Given the description of an element on the screen output the (x, y) to click on. 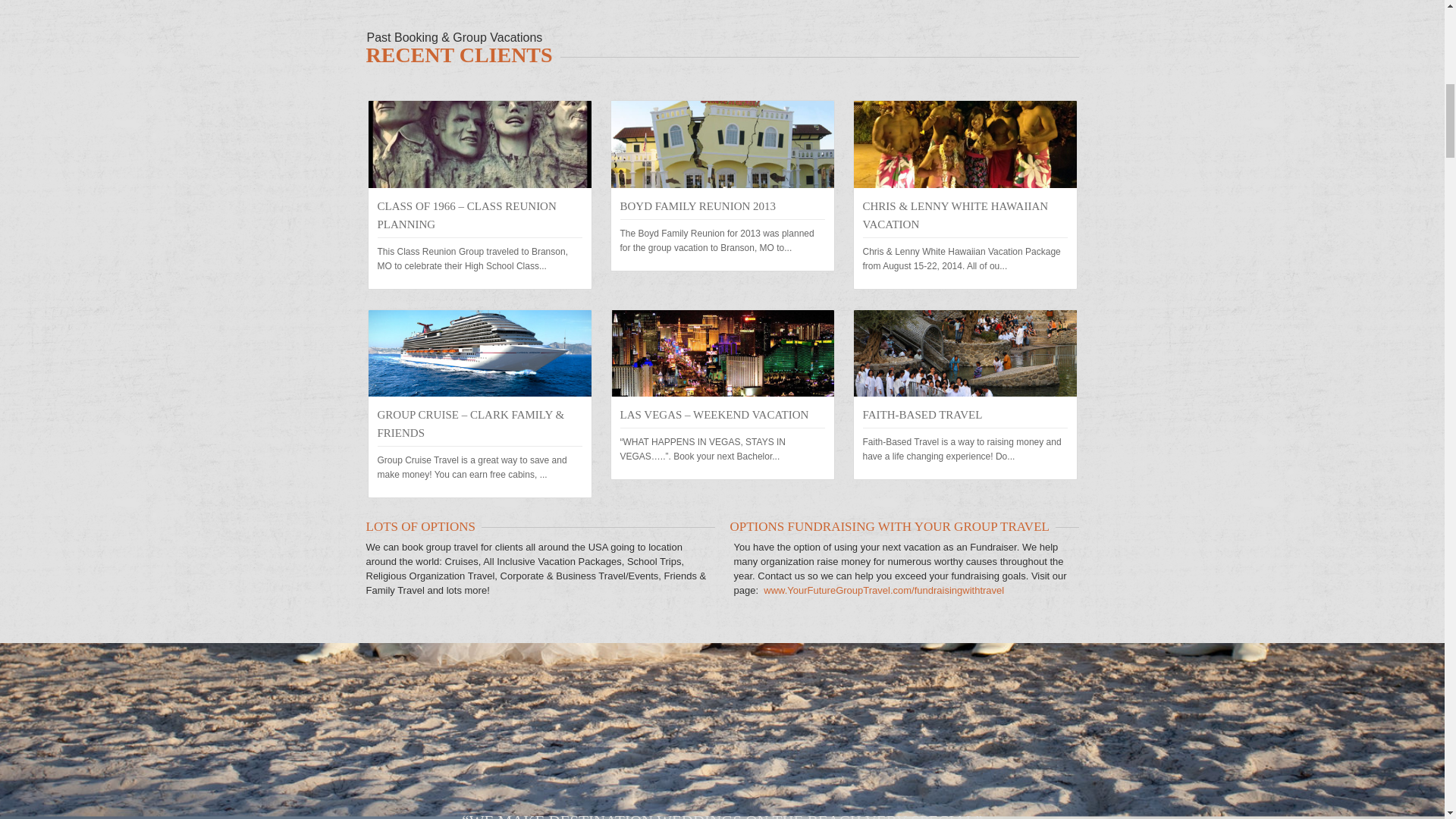
Fundraising With Group Travel (883, 590)
